Given the description of an element on the screen output the (x, y) to click on. 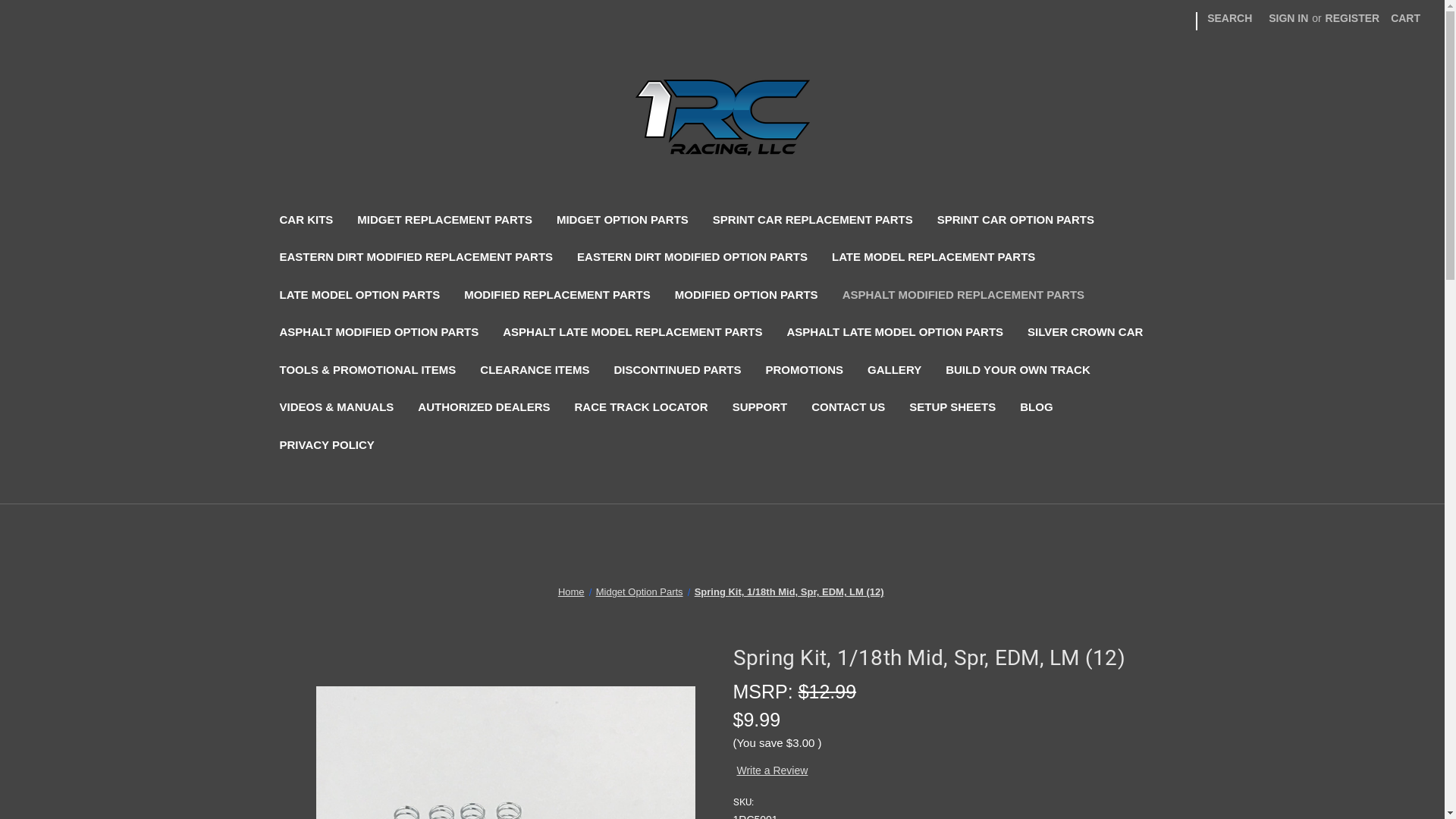
SUPPORT Element type: text (760, 408)
ASPHALT LATE MODEL OPTION PARTS Element type: text (895, 333)
VIDEOS & MANUALS Element type: text (335, 408)
1 RC Racing, LLC Element type: hover (722, 117)
SETUP SHEETS Element type: text (952, 408)
ASPHALT LATE MODEL REPLACEMENT PARTS Element type: text (632, 333)
EASTERN DIRT MODIFIED OPTION PARTS Element type: text (691, 258)
ASPHALT MODIFIED OPTION PARTS Element type: text (378, 333)
MODIFIED REPLACEMENT PARTS Element type: text (556, 296)
MIDGET REPLACEMENT PARTS Element type: text (444, 221)
SPRINT CAR OPTION PARTS Element type: text (1015, 221)
AUTHORIZED DEALERS Element type: text (483, 408)
LATE MODEL OPTION PARTS Element type: text (358, 296)
MODIFIED OPTION PARTS Element type: text (746, 296)
ASPHALT MODIFIED REPLACEMENT PARTS Element type: text (963, 296)
BLOG Element type: text (1035, 408)
CONTACT US Element type: text (848, 408)
SEARCH Element type: text (1229, 18)
LATE MODEL REPLACEMENT PARTS Element type: text (933, 258)
DISCONTINUED PARTS Element type: text (677, 371)
SPRINT CAR REPLACEMENT PARTS Element type: text (812, 221)
RACE TRACK LOCATOR Element type: text (641, 408)
SILVER CROWN CAR Element type: text (1084, 333)
MIDGET OPTION PARTS Element type: text (622, 221)
CAR KITS Element type: text (305, 221)
Write a Review Element type: text (771, 770)
TOOLS & PROMOTIONAL ITEMS Element type: text (366, 371)
GALLERY Element type: text (894, 371)
BUILD YOUR OWN TRACK Element type: text (1017, 371)
REGISTER Element type: text (1352, 18)
PRIVACY POLICY Element type: text (325, 446)
SIGN IN Element type: text (1288, 18)
Midget Option Parts Element type: text (639, 591)
CART Element type: text (1405, 18)
EASTERN DIRT MODIFIED REPLACEMENT PARTS Element type: text (415, 258)
CLEARANCE ITEMS Element type: text (534, 371)
Home Element type: text (571, 591)
Spring Kit, 1/18th Mid, Spr, EDM, LM (12) Element type: text (789, 591)
PROMOTIONS Element type: text (804, 371)
